Given the description of an element on the screen output the (x, y) to click on. 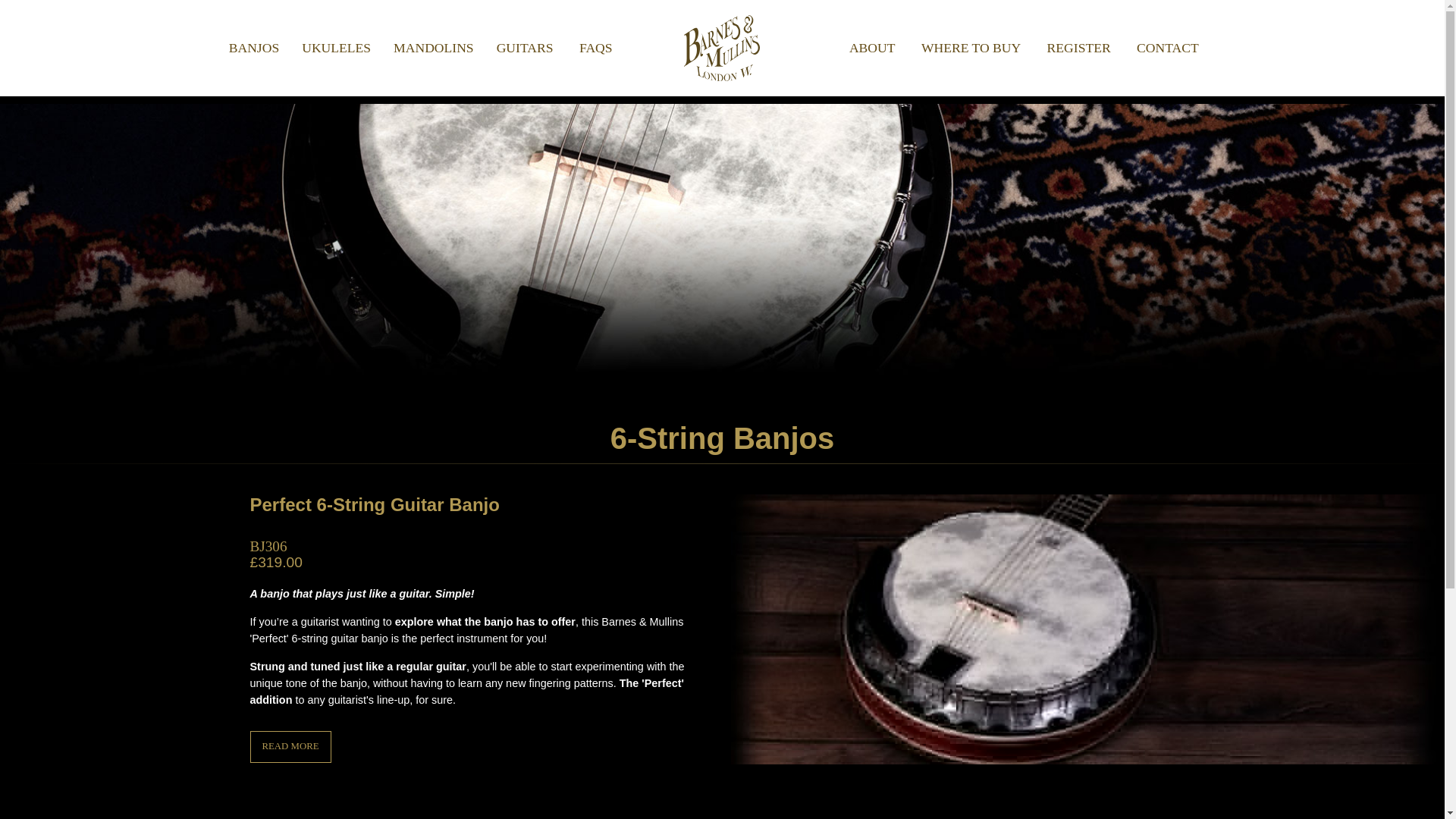
BANJOS (252, 47)
CONTACT (1167, 47)
Contact Us (1167, 47)
REGISTER (1078, 47)
FAQS (595, 47)
ABOUT (872, 47)
GUITARS (524, 47)
Register (1078, 47)
UKULELES (335, 47)
Where to Buy (971, 47)
About (872, 47)
MANDOLINS (432, 47)
WHERE TO BUY (971, 47)
Instrument FAQs (595, 47)
